Given the description of an element on the screen output the (x, y) to click on. 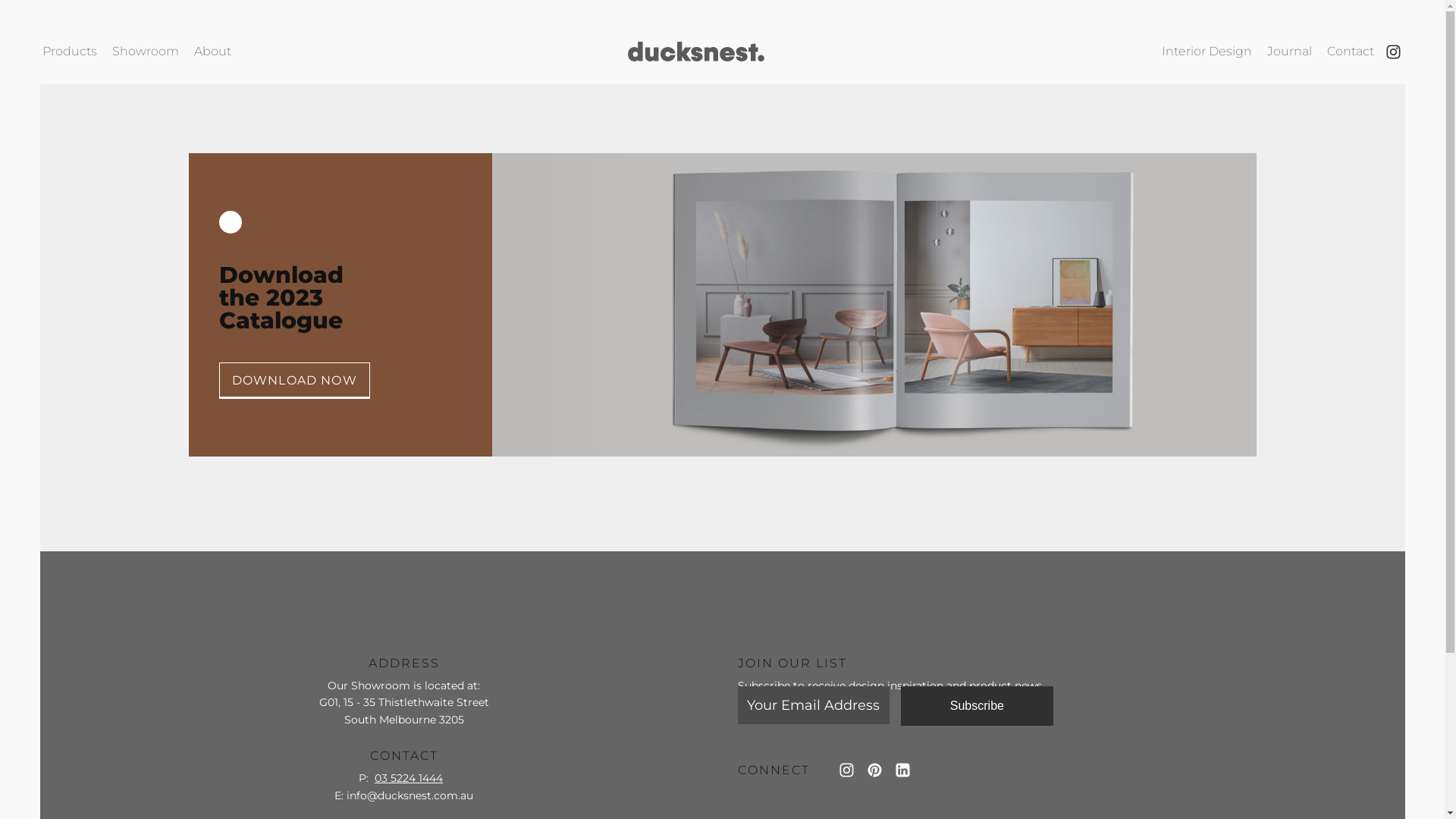
Contact Element type: text (1350, 51)
Interior Design Element type: text (1206, 51)
Showroom Element type: text (145, 51)
Journal Element type: text (1288, 51)
03 5224 1444 Element type: text (408, 777)
Products Element type: text (69, 51)
Subscribe Element type: text (976, 705)
About Element type: text (212, 51)
DOWNLOAD NOW Element type: text (293, 380)
